Given the description of an element on the screen output the (x, y) to click on. 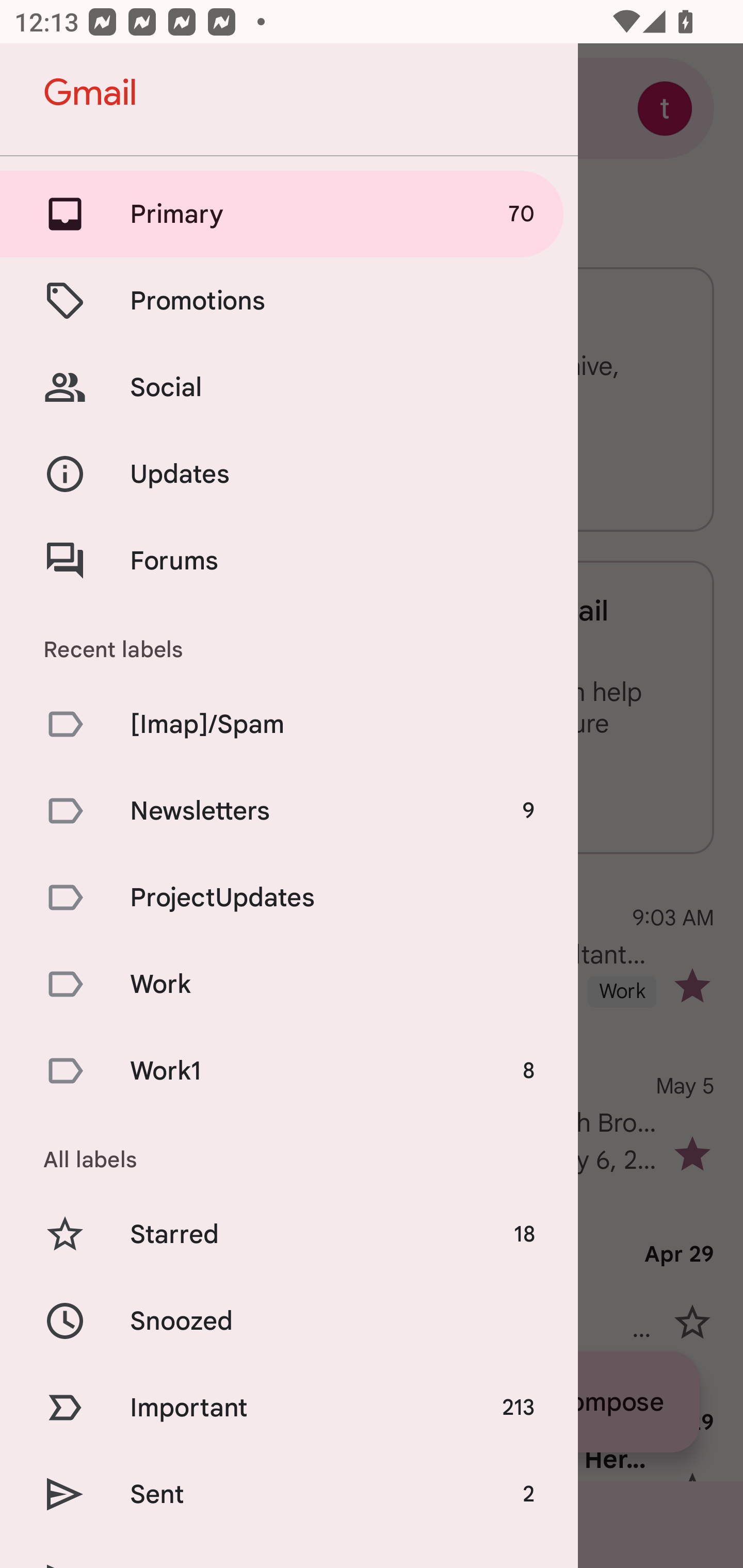
Primary 70 (289, 213)
Promotions (289, 300)
Social (289, 387)
Updates (289, 474)
Forums (289, 560)
[Imap]/Spam (289, 723)
Newsletters 9 (289, 810)
ProjectUpdates (289, 897)
Work (289, 983)
Work1 8 (289, 1070)
Starred 18 (289, 1234)
Snoozed (289, 1320)
Important 213 (289, 1407)
Sent 2 (289, 1494)
